Given the description of an element on the screen output the (x, y) to click on. 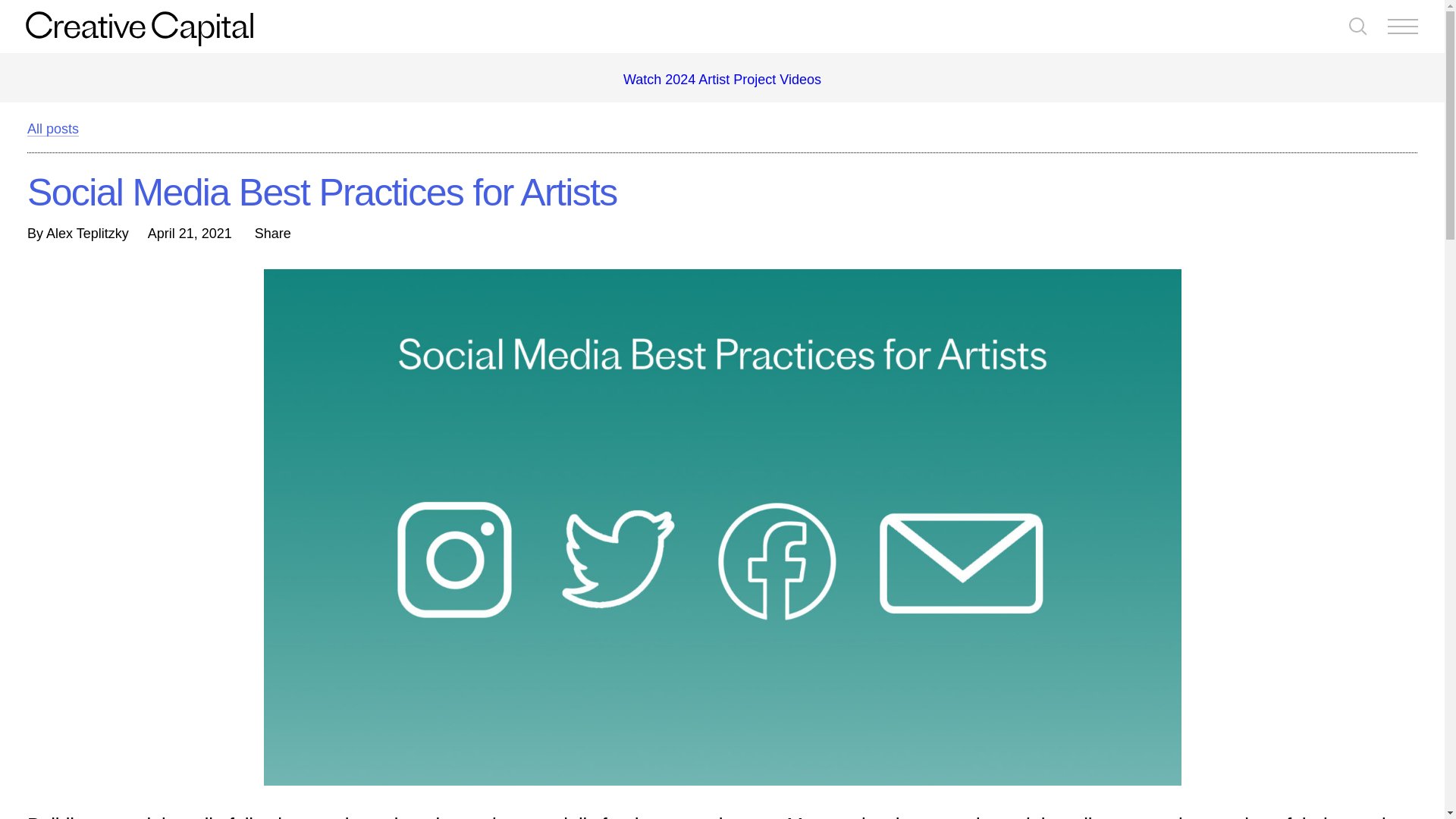
Watch 2024 Artist Project Videos (722, 79)
All posts (52, 128)
Menu (1402, 26)
